Given the description of an element on the screen output the (x, y) to click on. 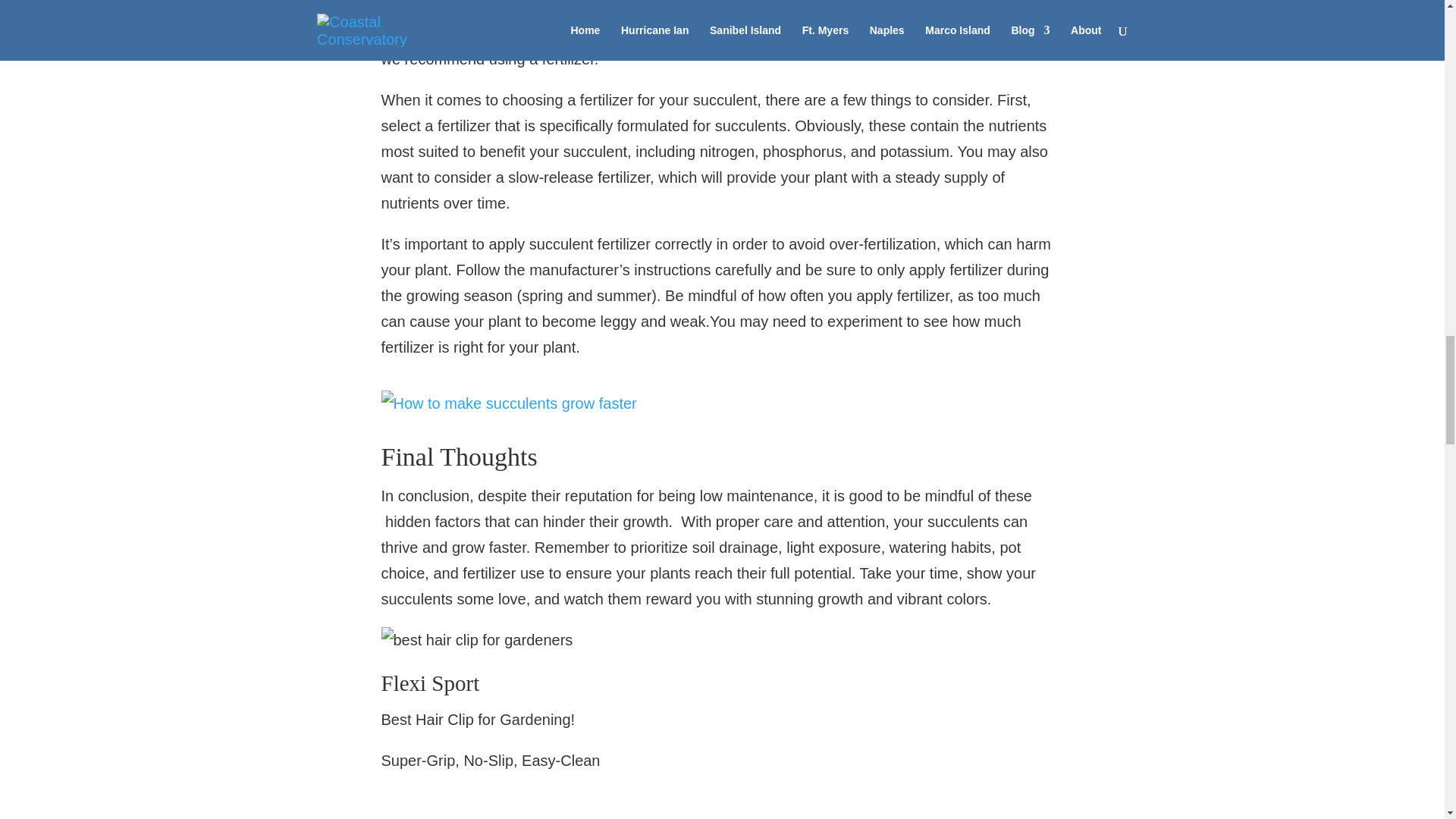
sport gardening dress (476, 639)
